Given the description of an element on the screen output the (x, y) to click on. 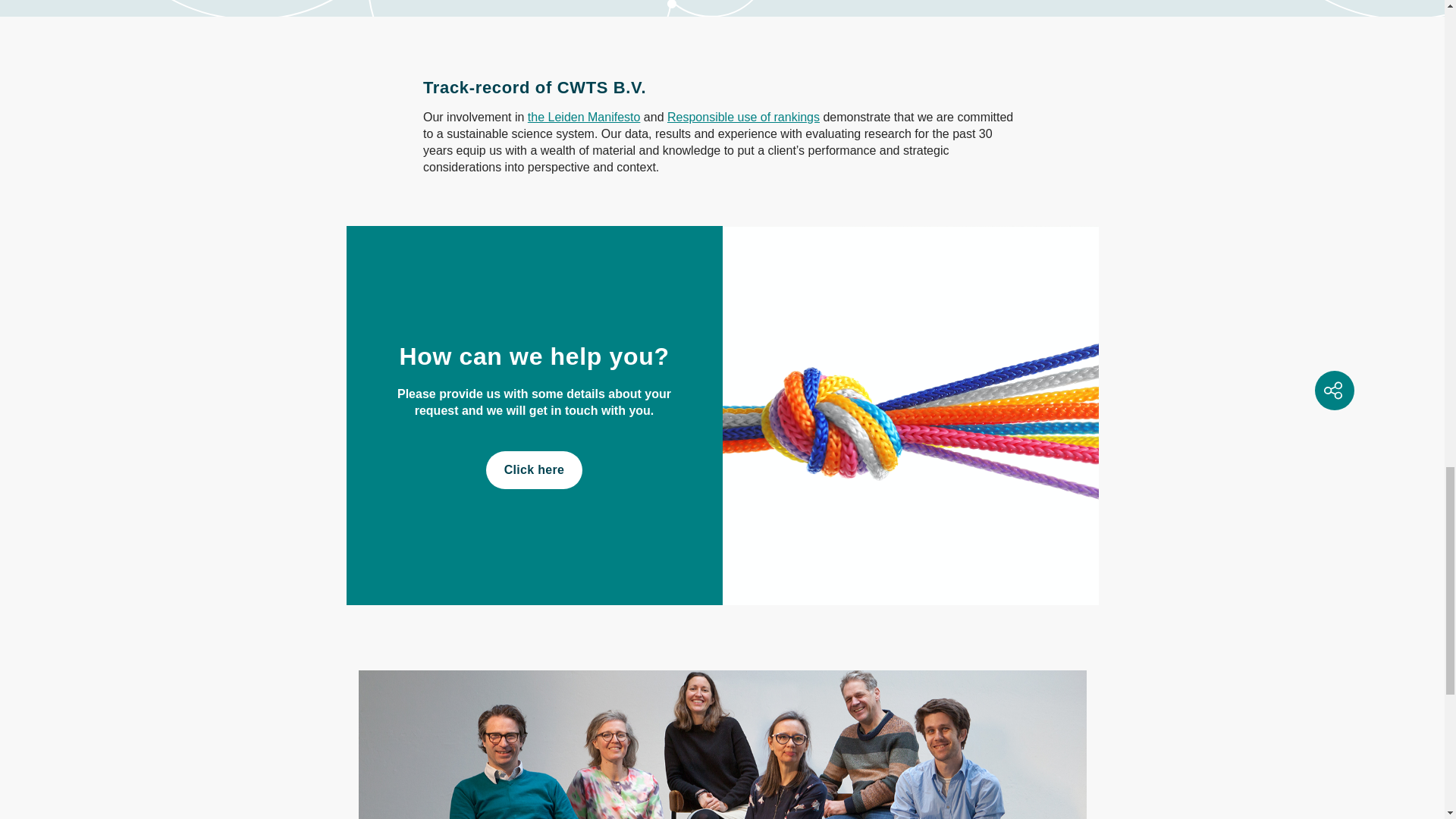
the Leiden Manifesto (583, 116)
Click here (534, 469)
Responsible use of rankings (742, 116)
